Given the description of an element on the screen output the (x, y) to click on. 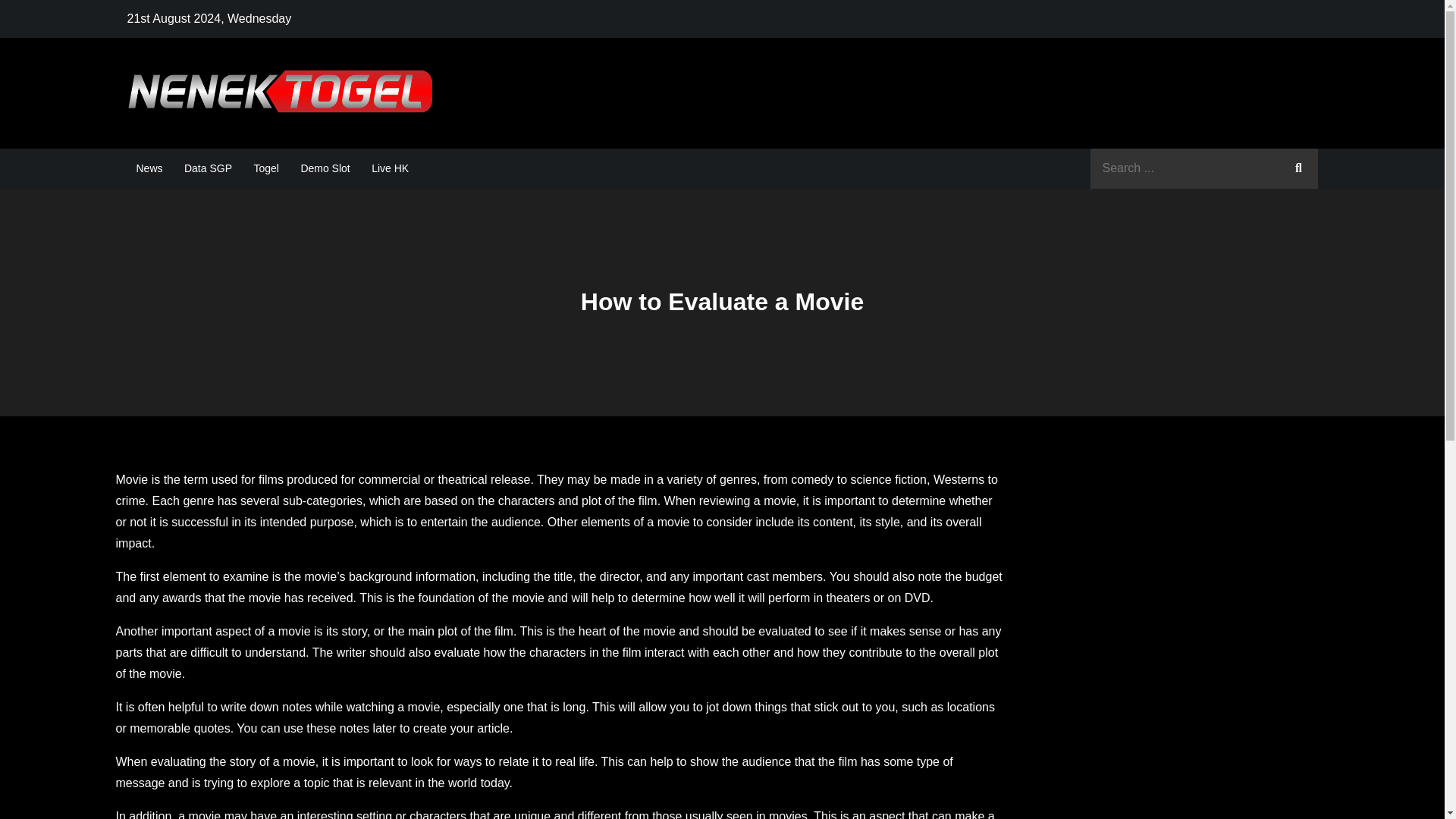
Live HK (389, 168)
Data SGP (207, 168)
Togel (265, 168)
Pragmatic, Pragmatic Play, Agen Slot Pragmatic 2021 (758, 108)
Demo Slot (324, 168)
News (149, 168)
Search for: (1203, 168)
Search (1298, 168)
